Given the description of an element on the screen output the (x, y) to click on. 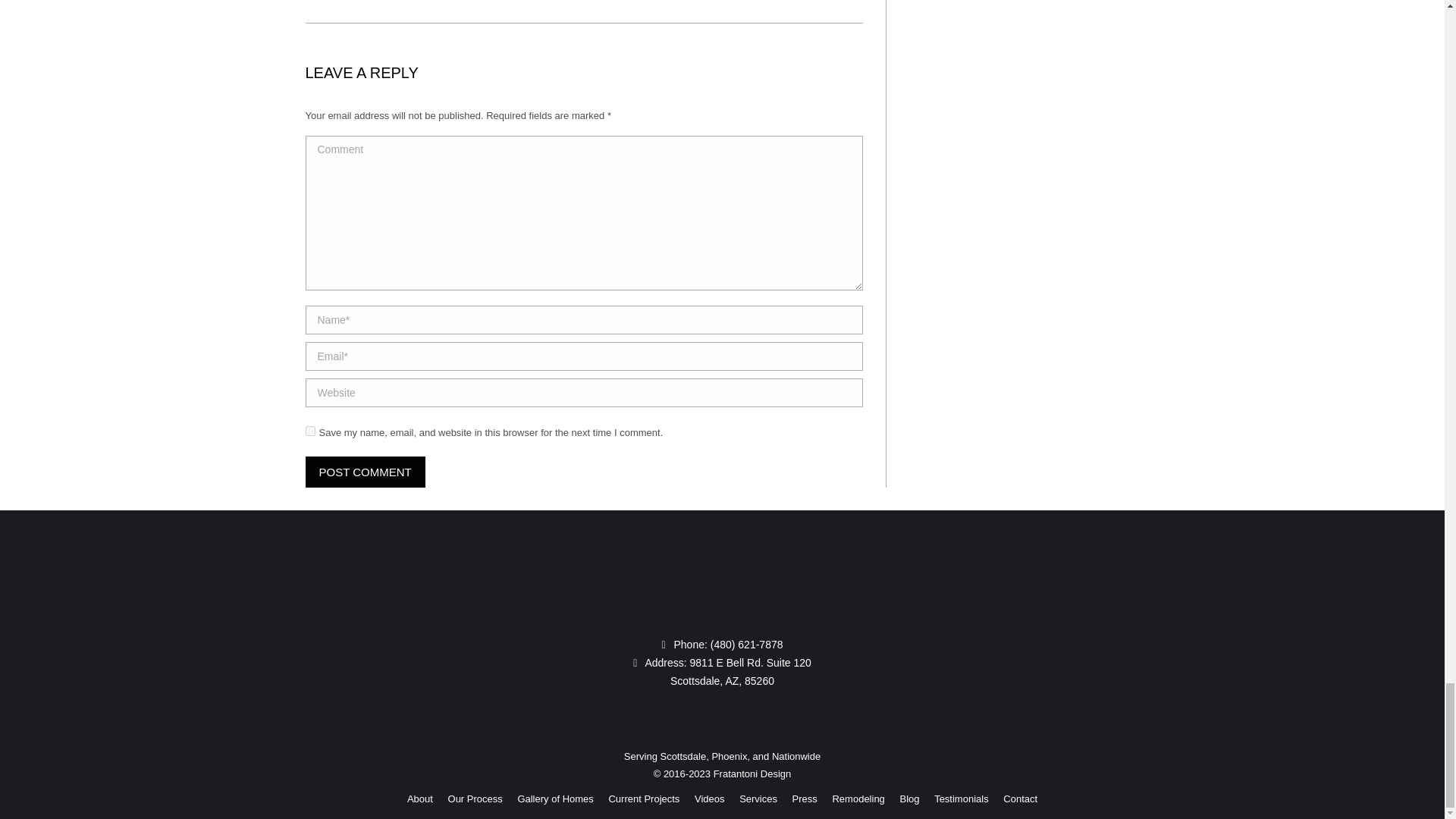
yes (309, 429)
